Given the description of an element on the screen output the (x, y) to click on. 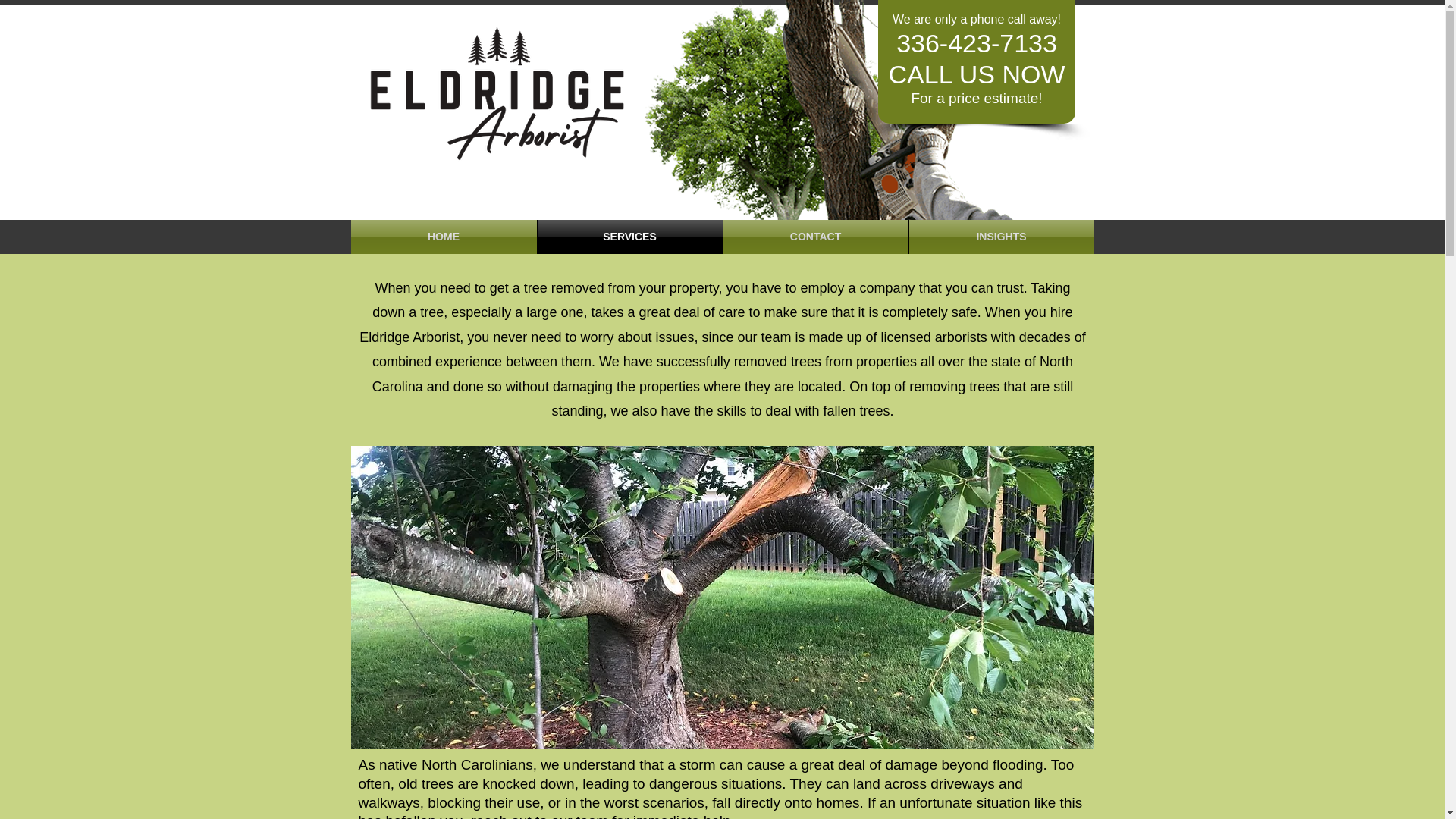
CONTACT (815, 236)
HOME (442, 236)
INSIGHTS (1000, 236)
SERVICES (629, 236)
